Given the description of an element on the screen output the (x, y) to click on. 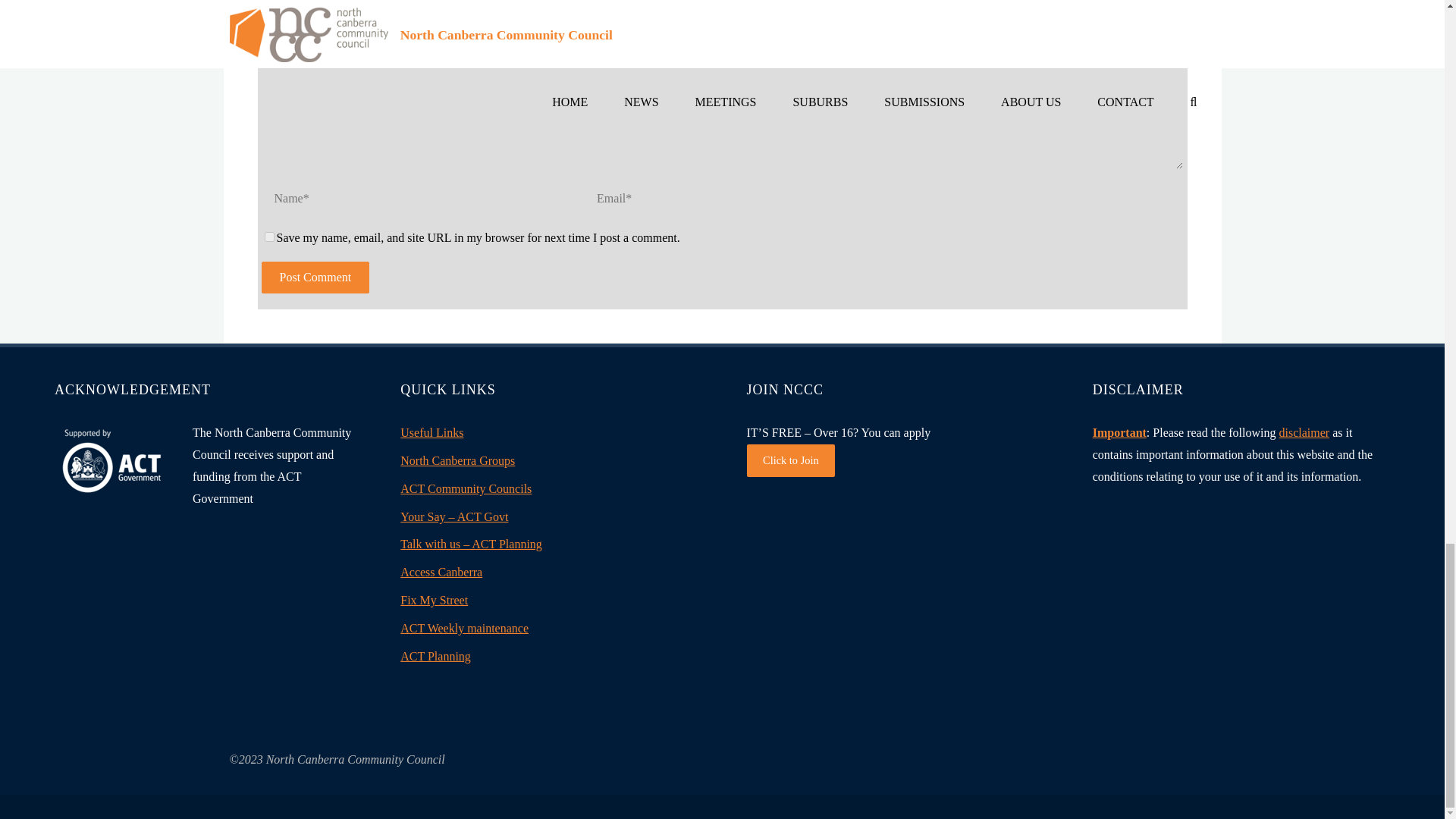
yes (268, 236)
Post Comment (314, 277)
Access Canberra (440, 571)
ACT Planning (435, 656)
Post Comment (314, 277)
North Canberra Groups (457, 460)
Useful Links (431, 431)
ACT Community Councils (465, 488)
ACT Weekly maintenance (464, 627)
Fix My Street (433, 599)
